Given the description of an element on the screen output the (x, y) to click on. 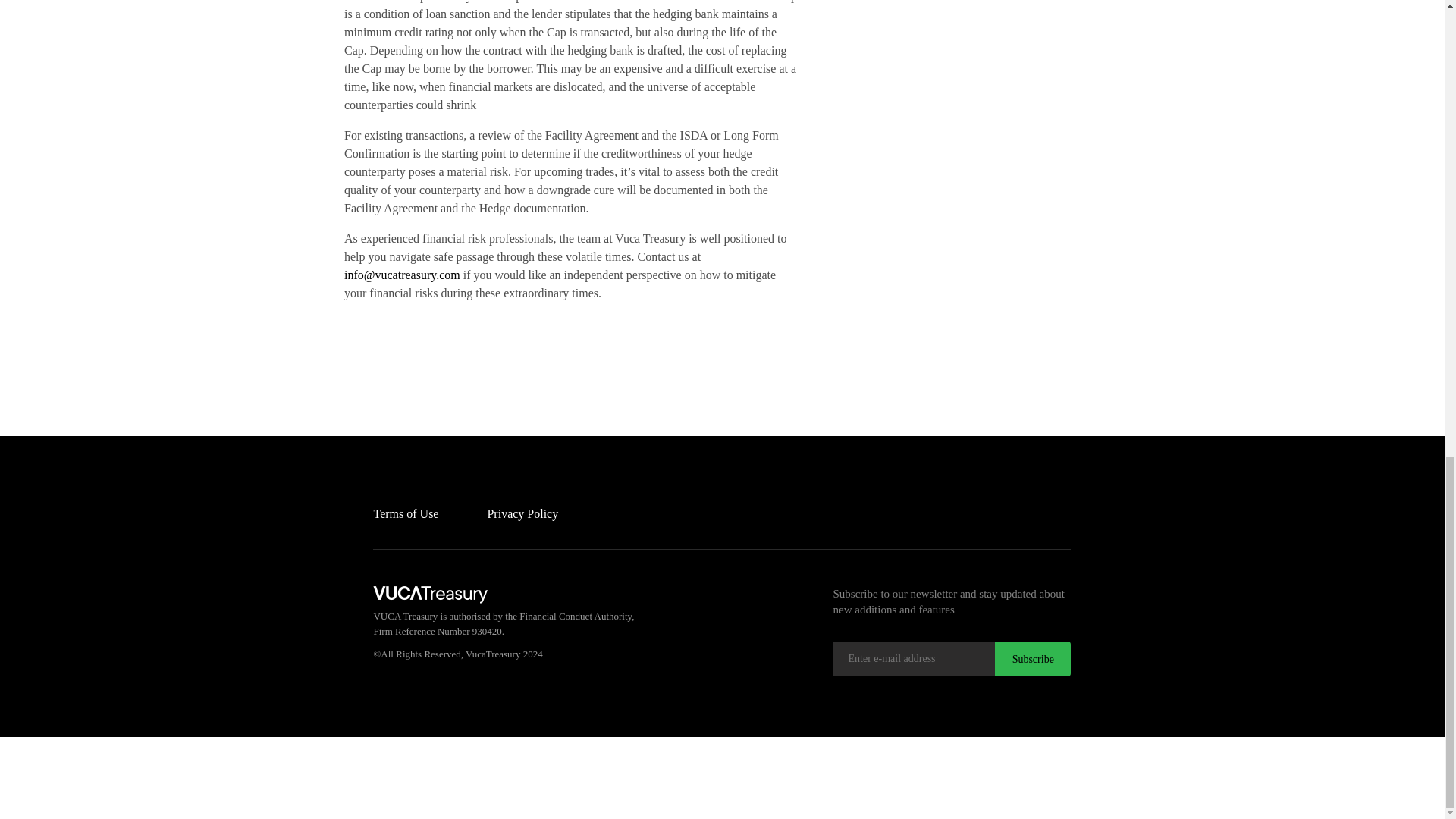
Privacy Policy (521, 513)
Terms of Use (405, 513)
Subscribe (1032, 658)
Subscribe (1032, 658)
